Given the description of an element on the screen output the (x, y) to click on. 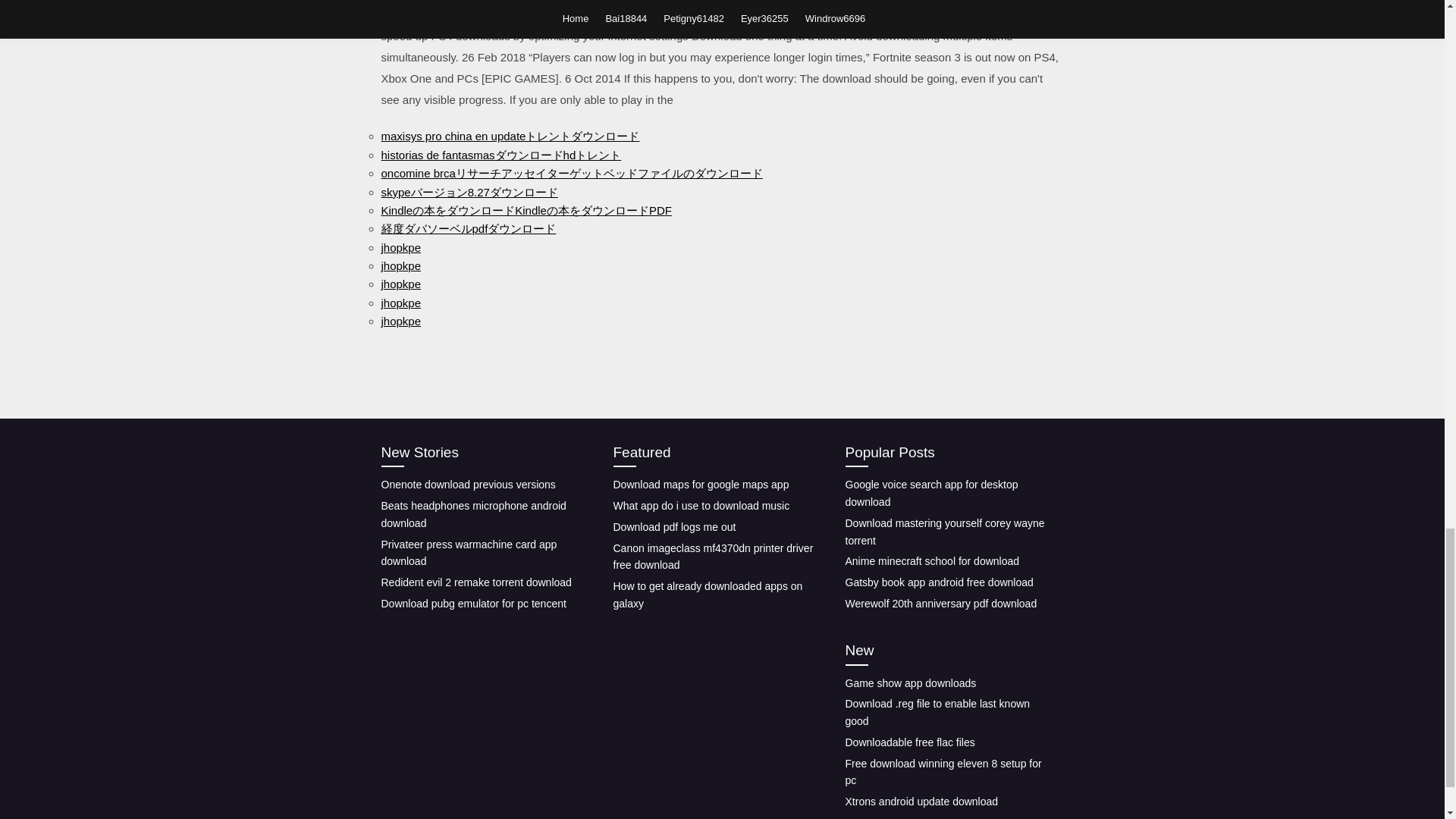
jhopkpe (400, 320)
Google voice search app for desktop download (930, 492)
Download .reg file to enable last known good (936, 712)
Onenote download previous versions (467, 484)
Downloadable free flac files (909, 742)
jhopkpe (400, 283)
Gatsby book app android free download (938, 582)
Anime minecraft school for download (931, 561)
Beats headphones microphone android download (473, 514)
Download mastering yourself corey wayne torrent (943, 531)
